Given the description of an element on the screen output the (x, y) to click on. 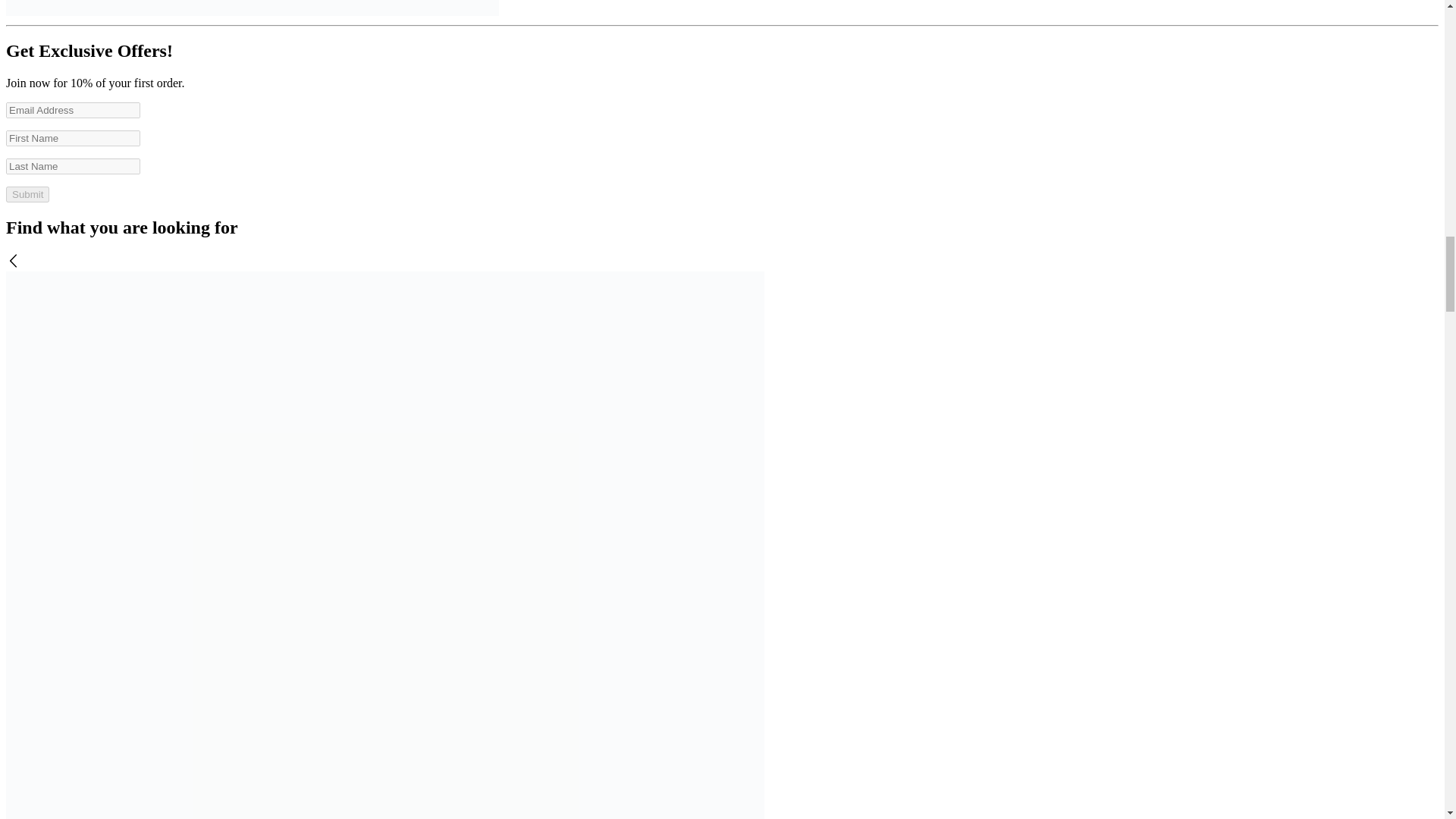
Submit (27, 194)
Submit (27, 194)
Chevron-left (13, 260)
